Given the description of an element on the screen output the (x, y) to click on. 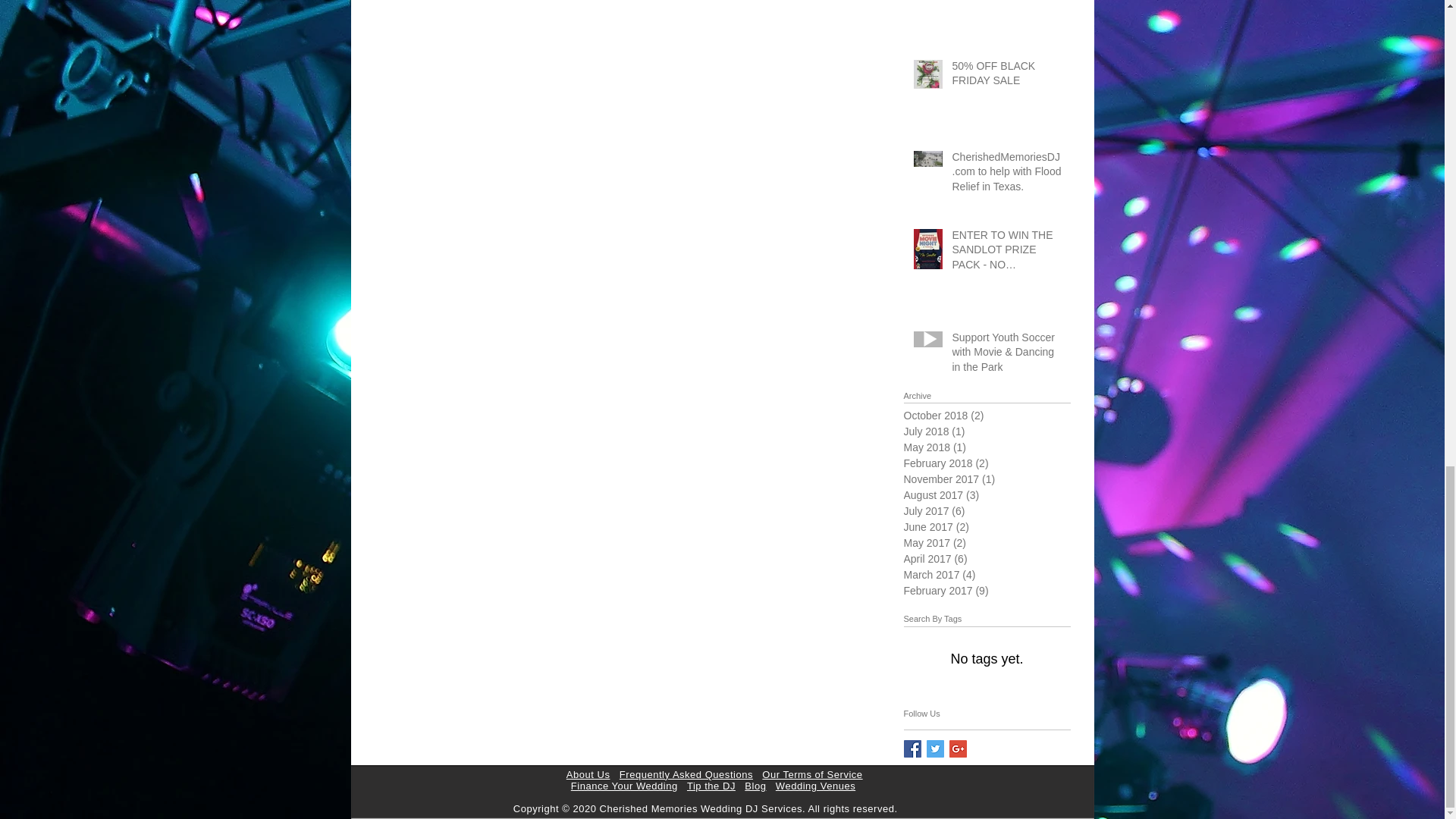
KEYWORDS (992, 1)
ENTER TO WIN THE SANDLOT PRIZE PACK - NO PURCHASE NECESSARY (1006, 253)
CherishedMemoriesDJ.com to help with Flood Relief in Texas. (1006, 174)
